Given the description of an element on the screen output the (x, y) to click on. 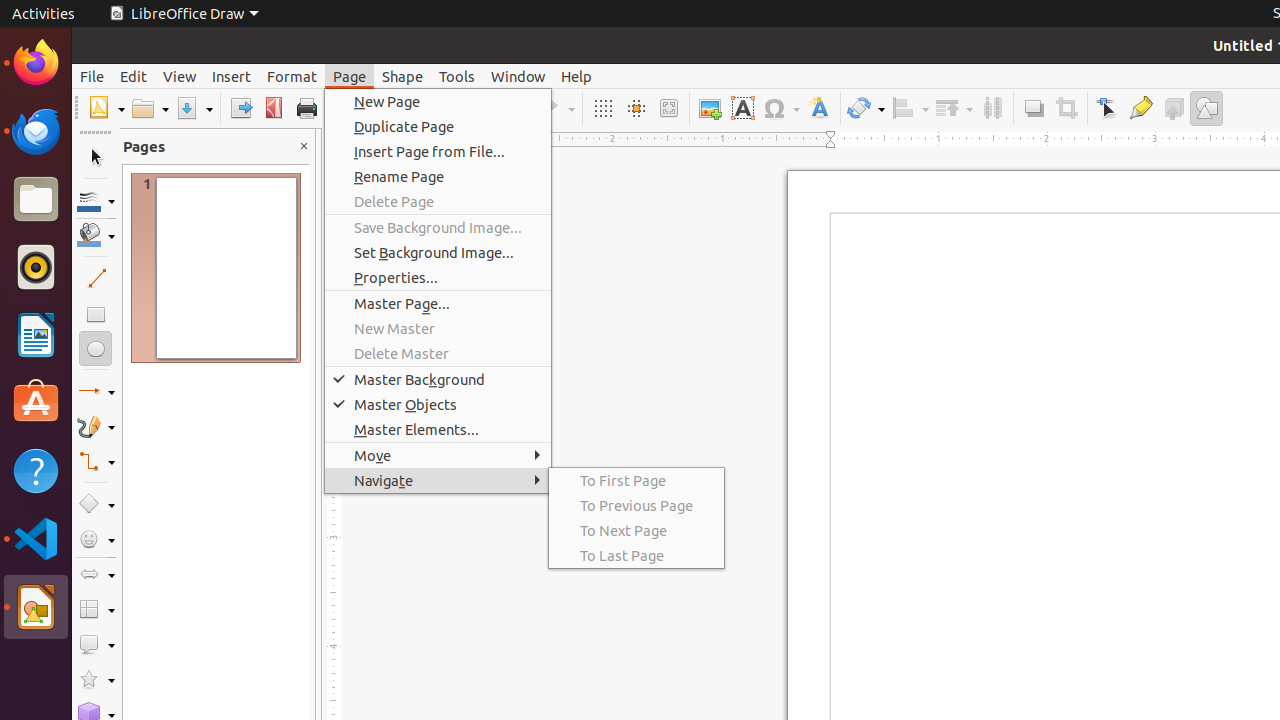
Tools Element type: menu (457, 76)
New Page Element type: menu-item (438, 101)
To Last Page Element type: menu-item (636, 555)
Edit Points Element type: push-button (1107, 108)
Delete Master Element type: menu-item (438, 353)
